Given the description of an element on the screen output the (x, y) to click on. 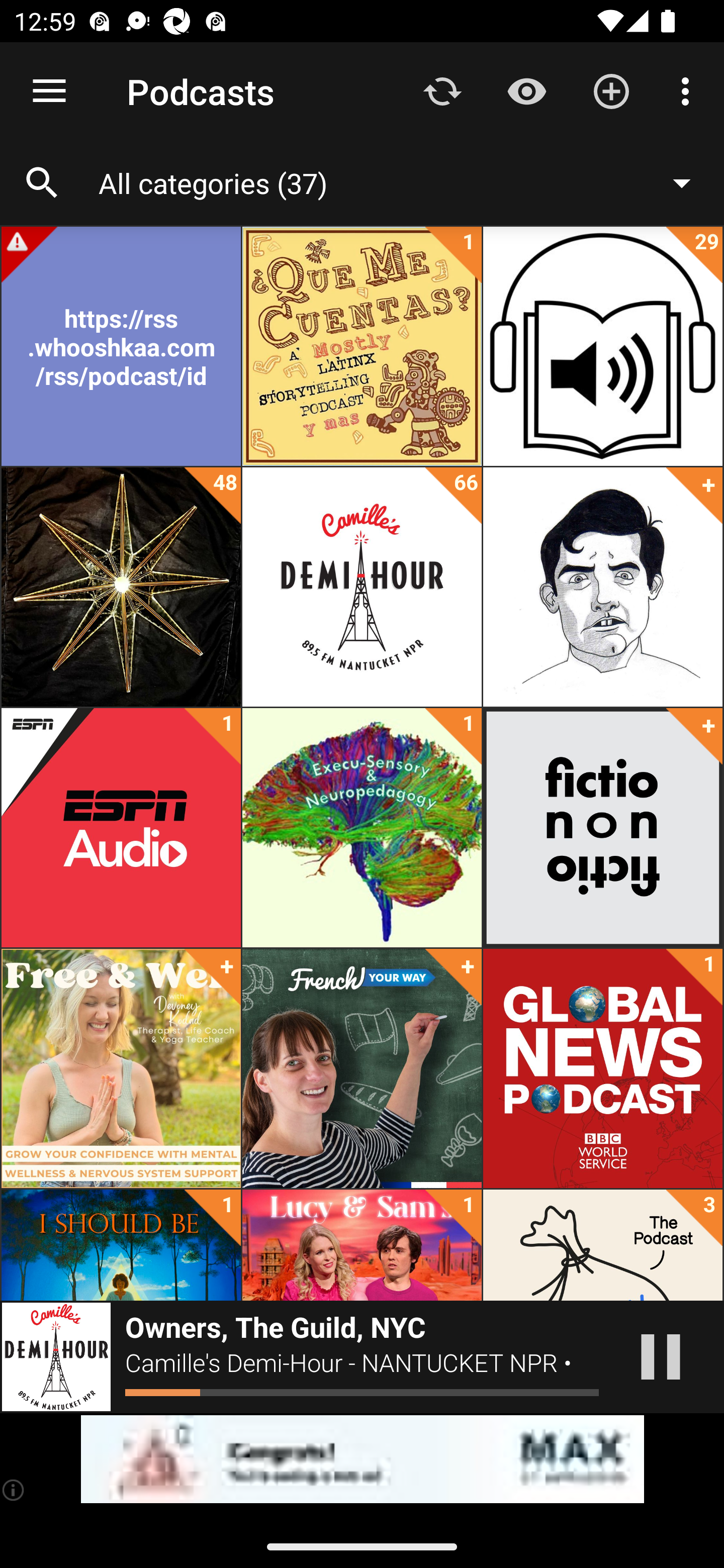
Open navigation sidebar (49, 91)
Update (442, 90)
Show / Hide played content (526, 90)
Add new Podcast (611, 90)
More options (688, 90)
Search (42, 183)
All categories (37) (404, 182)
https://rss.whooshkaa.com/rss/podcast/id/5884 (121, 346)
¿Qué Me Cuentas?: Latinx Storytelling 1 (361, 346)
Audiobooks 29 (602, 346)
Audiobooks 48 (121, 587)
Camille's Demi-Hour - NANTUCKET NPR 66 (361, 587)
Cooking Issues with Dave Arnold + (602, 587)
ESPN Audio 1 (121, 827)
fiction/non/fiction + (602, 827)
Global News Podcast 1 (602, 1068)
Play / Pause (660, 1356)
app-monetization (362, 1459)
(i) (14, 1489)
